Given the description of an element on the screen output the (x, y) to click on. 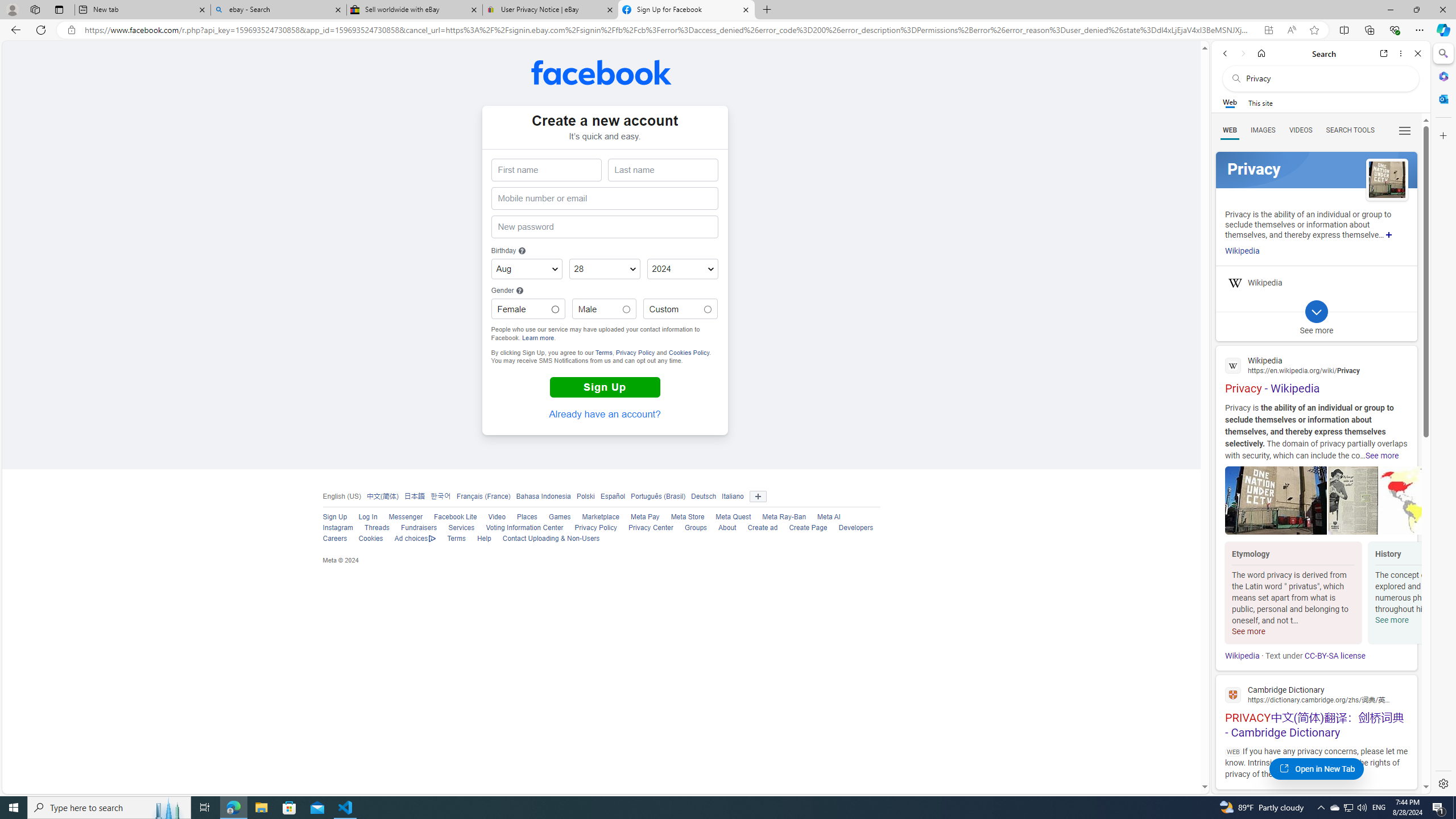
Log In (361, 517)
Show more languages (757, 496)
Cookies (364, 538)
Sign Up for Facebook (685, 9)
Polski (582, 496)
Places (526, 516)
Bahasa Indonesia (542, 496)
App available. Install Facebook (1268, 29)
Fundraisers (418, 528)
Meta Ray-Ban (783, 516)
Sign Up (334, 516)
Marketplace (594, 517)
